Given the description of an element on the screen output the (x, y) to click on. 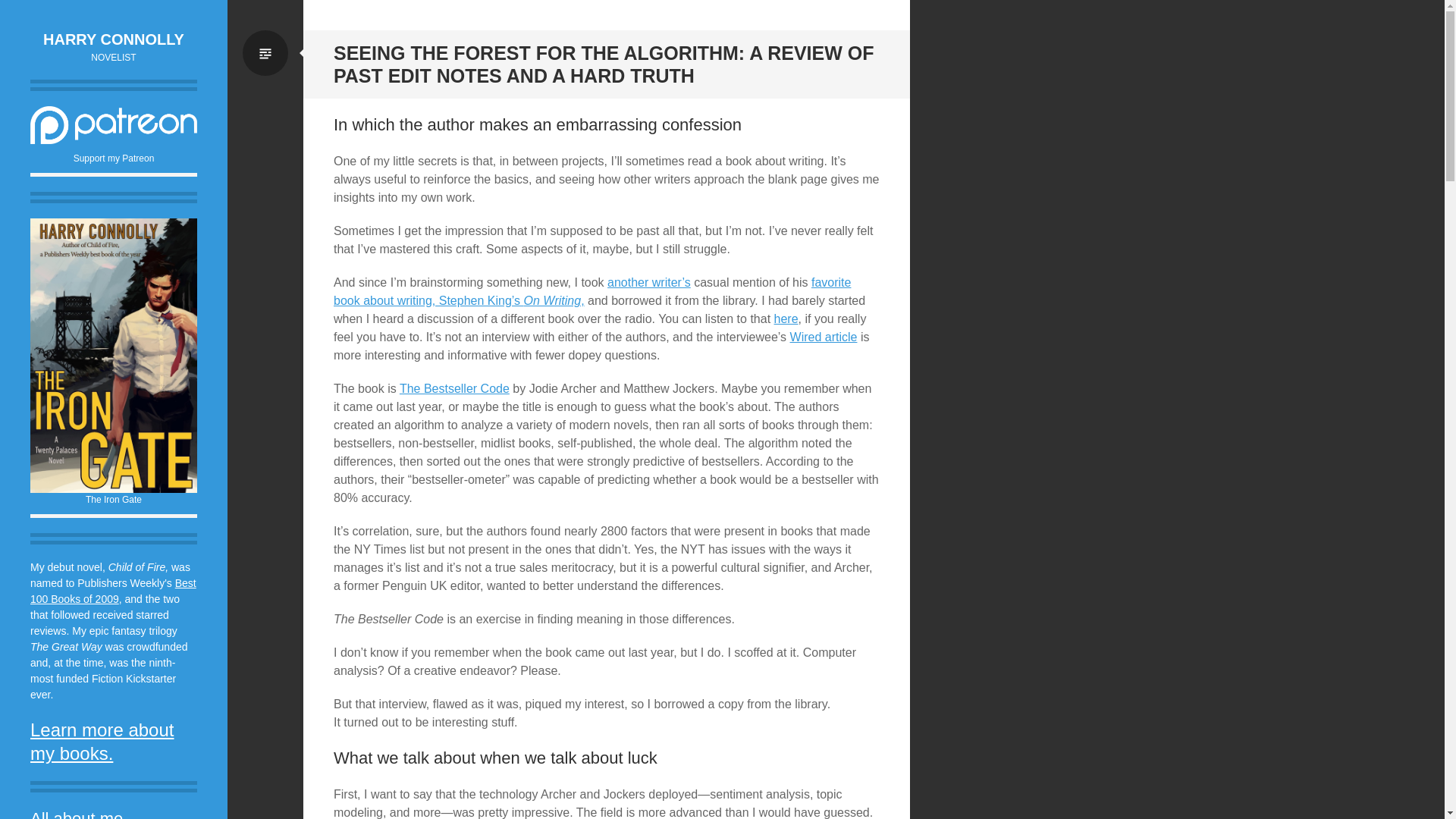
HARRY CONNOLLY (113, 39)
The Way into Chaos (113, 355)
Learn more about my books. (101, 741)
Harry Connolly (113, 39)
Patreon White (113, 125)
Best 100 Books of 2009 (113, 591)
